Given the description of an element on the screen output the (x, y) to click on. 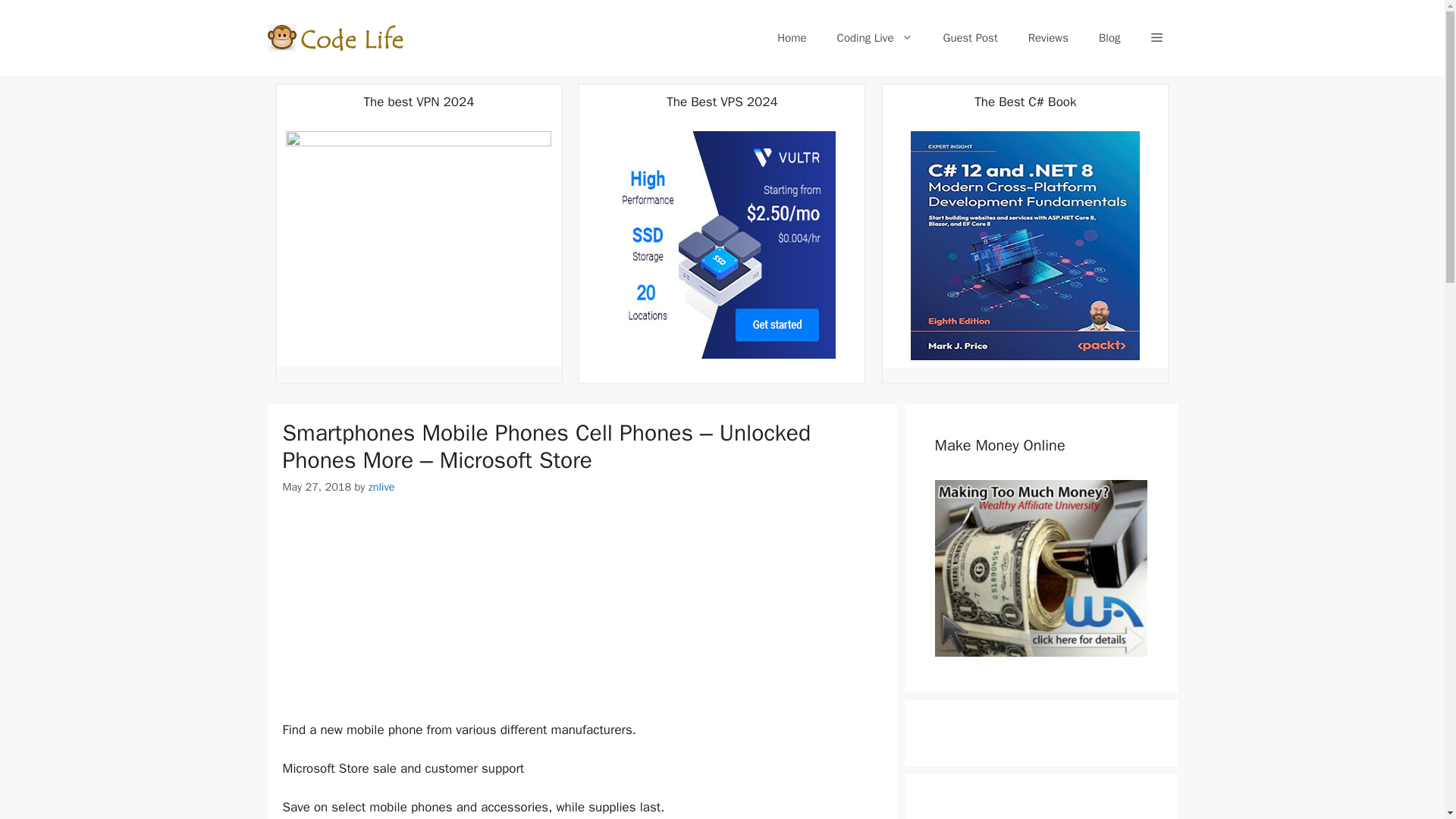
Make Money Online (1040, 567)
znlive (381, 486)
Advertisement (581, 608)
Reviews (1048, 37)
Home (791, 37)
Guest Post (970, 37)
Advertisement (1040, 814)
View all posts by znlive (381, 486)
Coding Live (875, 37)
Blog (1109, 37)
